Given the description of an element on the screen output the (x, y) to click on. 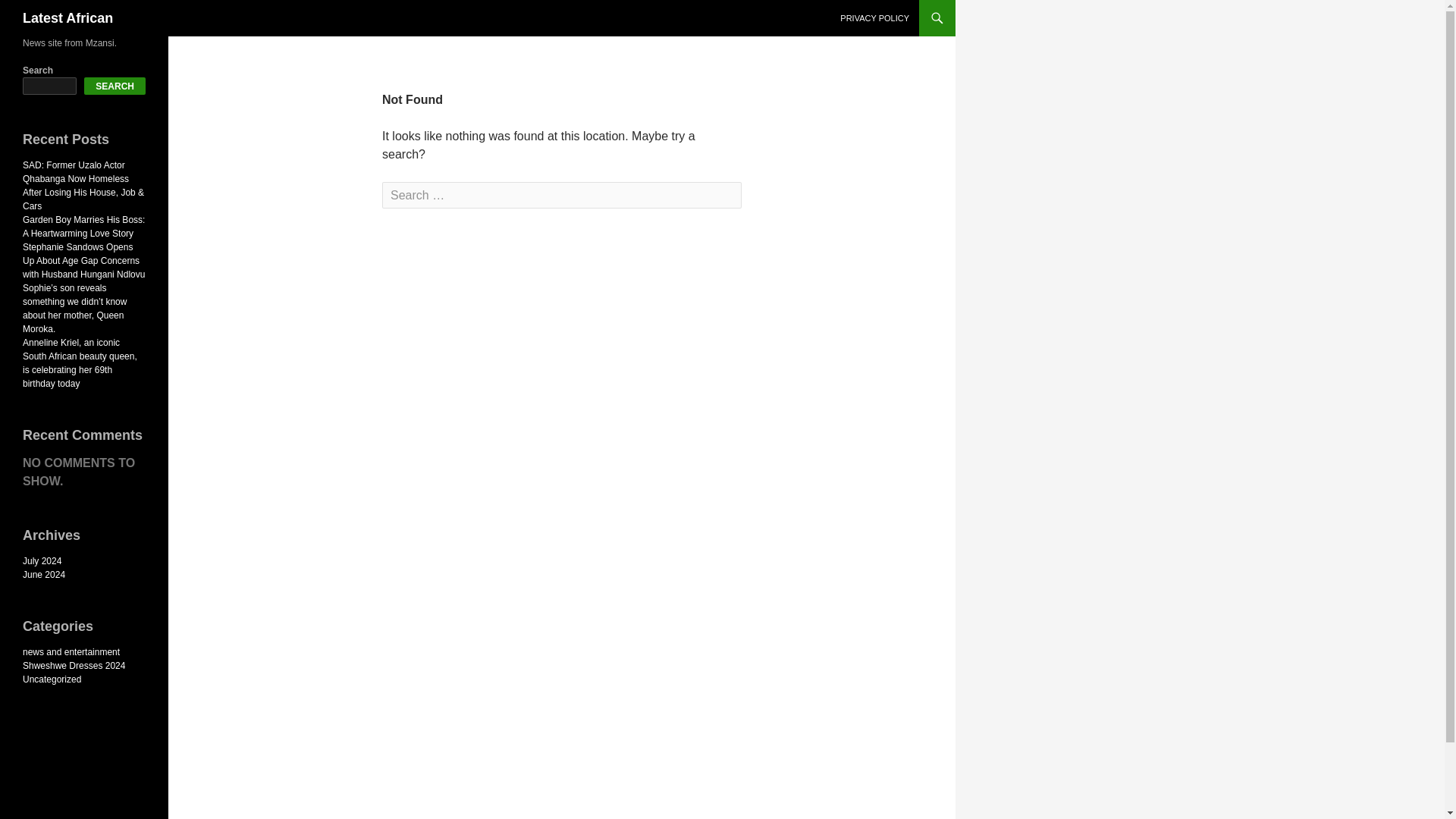
PRIVACY POLICY (874, 18)
Latest African (68, 18)
SEARCH (114, 85)
Uncategorized (52, 679)
June 2024 (44, 574)
Garden Boy Marries His Boss: A Heartwarming Love Story (83, 226)
July 2024 (42, 561)
Search (42, 13)
news and entertainment (71, 652)
Shweshwe Dresses 2024 (74, 665)
